Given the description of an element on the screen output the (x, y) to click on. 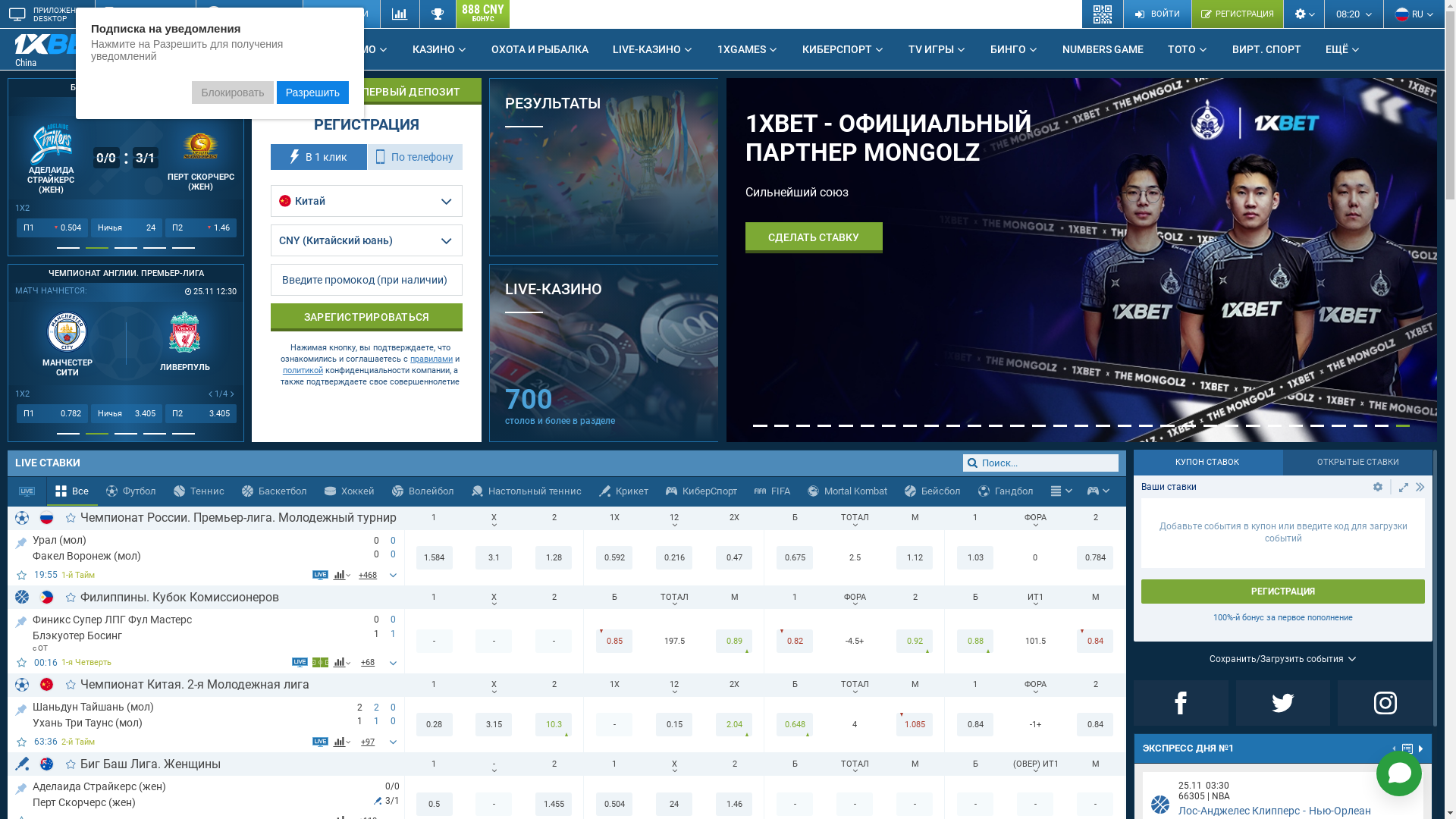
TOP Element type: hover (20, 785)
TOP Element type: hover (20, 706)
+97 Element type: text (367, 741)
NUMBERS GAME Element type: text (1102, 48)
TOP Element type: hover (20, 618)
LIVE Element type: text (296, 48)
TOP Element type: hover (20, 540)
China Element type: text (71, 49)
+66 Element type: text (367, 662)
+470 Element type: text (367, 574)
1xBet Betting Company Element type: hover (60, 43)
1XGAMES Element type: text (747, 48)
Mortal Kombat Element type: text (847, 490)
PROMO Element type: text (363, 48)
FIFA Element type: text (772, 490)
NEW Element type: text (124, 42)
